Given the description of an element on the screen output the (x, y) to click on. 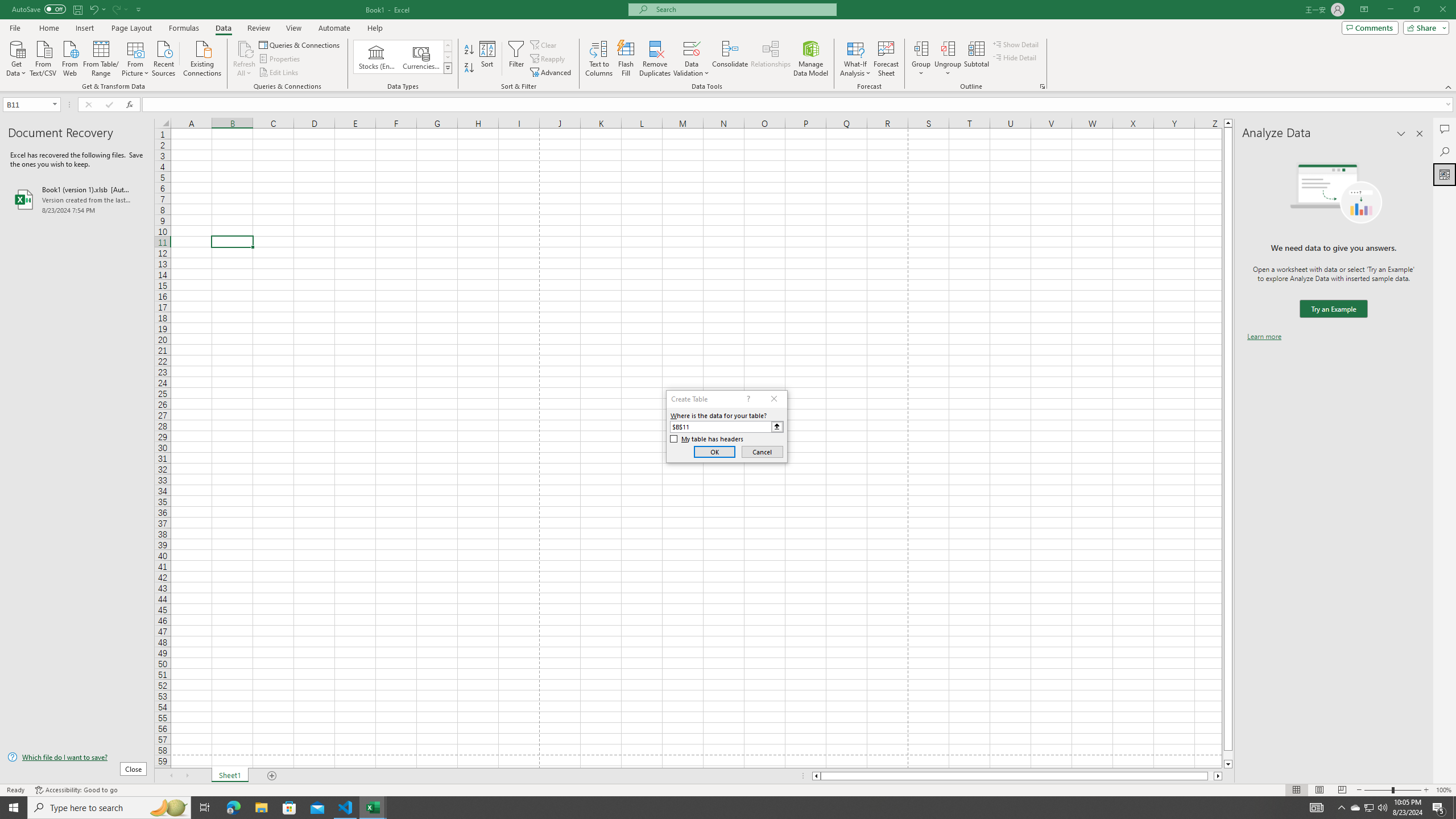
From Text/CSV (43, 57)
Stocks (English) (375, 56)
Search (1444, 151)
From Table/Range (100, 57)
Recent Sources (163, 57)
Get Data (16, 57)
Currencies (English) (420, 56)
Existing Connections (202, 57)
